Given the description of an element on the screen output the (x, y) to click on. 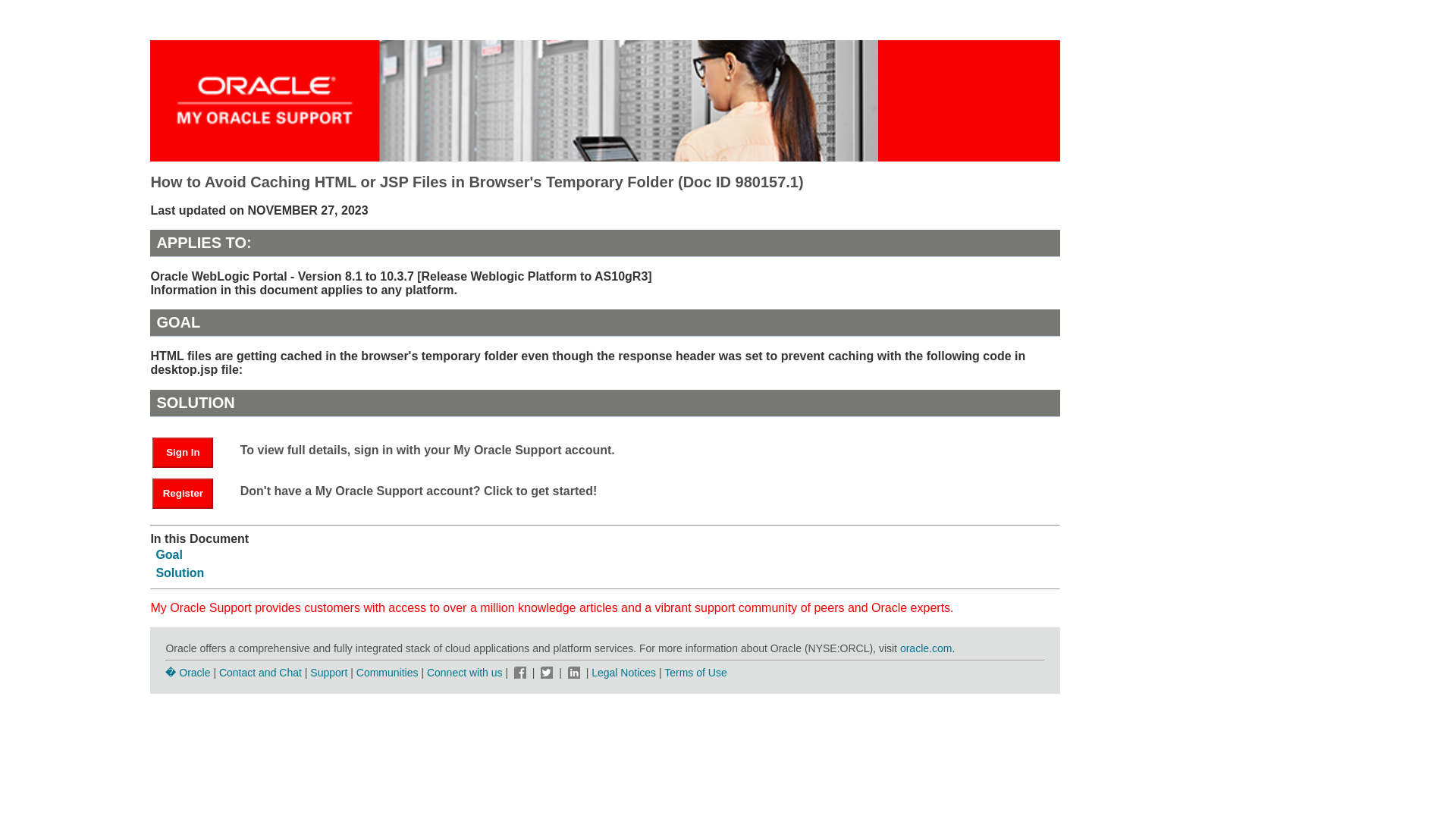
Register (190, 492)
oracle.com (925, 648)
Support (328, 672)
oracle.com (925, 648)
Solution (179, 572)
Sign In (190, 451)
Contact and Chat (260, 672)
Register (182, 493)
Connect with us (465, 672)
Terms of Use (694, 672)
Communities (387, 672)
Sign In (182, 452)
Legal Notices (623, 672)
Goal (169, 554)
